Given the description of an element on the screen output the (x, y) to click on. 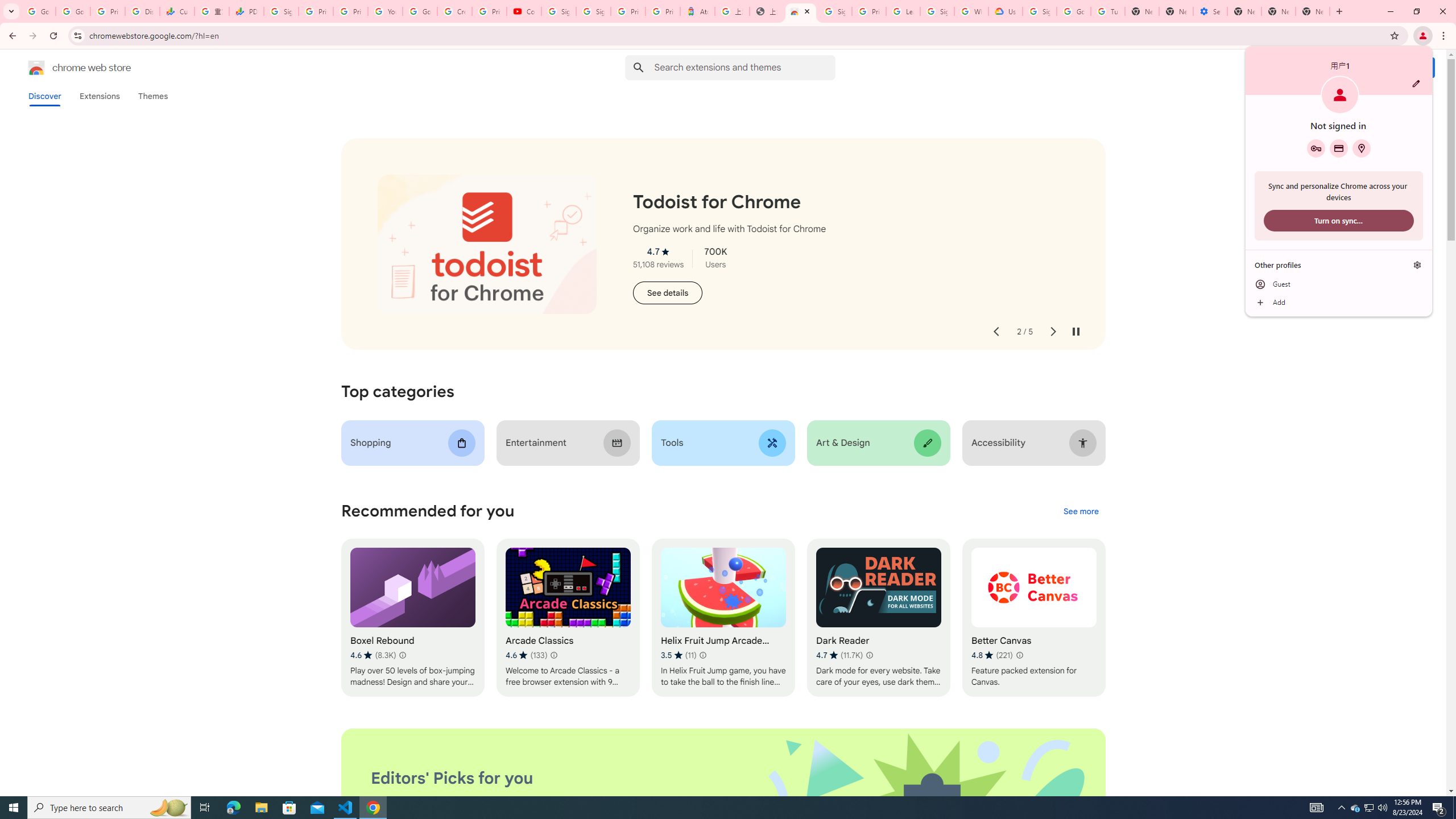
Sign in - Google Accounts (834, 11)
Microsoft Edge (233, 807)
Accessibility (1033, 443)
Content Creator Programs & Opportunities - YouTube Creators (524, 11)
Average rating 4.8 out of 5 stars. 221 ratings. (992, 655)
Chrome Web Store logo (36, 67)
Average rating 4.7 out of 5 stars. 11.7K ratings. (839, 655)
Create your Google Account (454, 11)
Sign in - Google Accounts (937, 11)
Chrome Web Store (800, 11)
YouTube (384, 11)
